Given the description of an element on the screen output the (x, y) to click on. 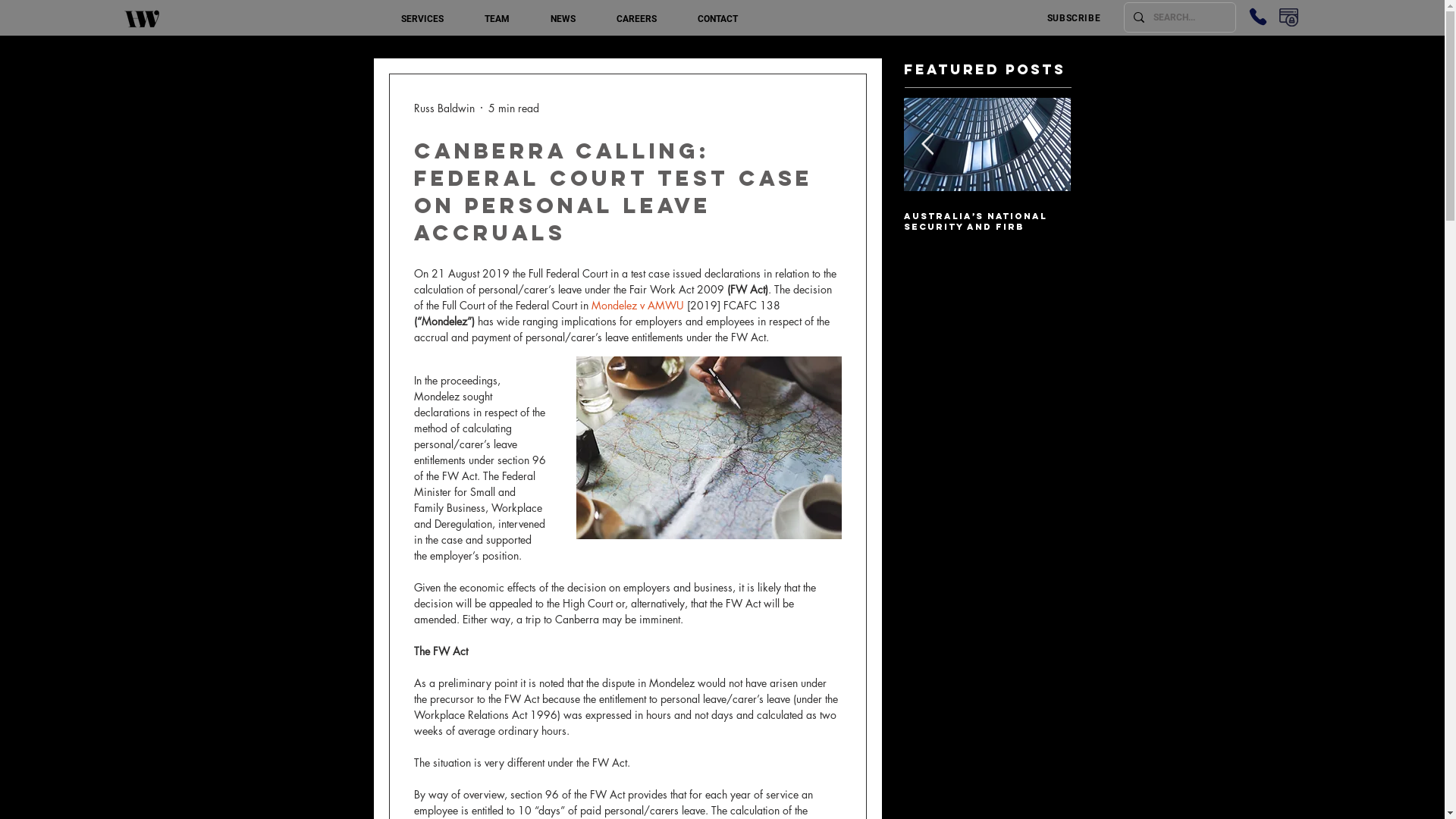
Best Lawyers In Australia 2022 Element type: text (820, 221)
CAREERS Element type: text (636, 19)
 Mondelez v AMWU Element type: text (636, 305)
SUBSCRIBE Element type: text (1075, 17)
The Reasonable Recovery Period Element type: text (653, 221)
CONTACT Element type: text (717, 19)
ASX updates guidance note 19 for performance securities Element type: text (486, 226)
Payment icon.png Element type: hover (1288, 17)
NEWS Element type: text (563, 19)
Russ Baldwin Element type: text (444, 108)
Leading Insolvency & Restructuring Lawyers 2021 Element type: text (319, 226)
